Given the description of an element on the screen output the (x, y) to click on. 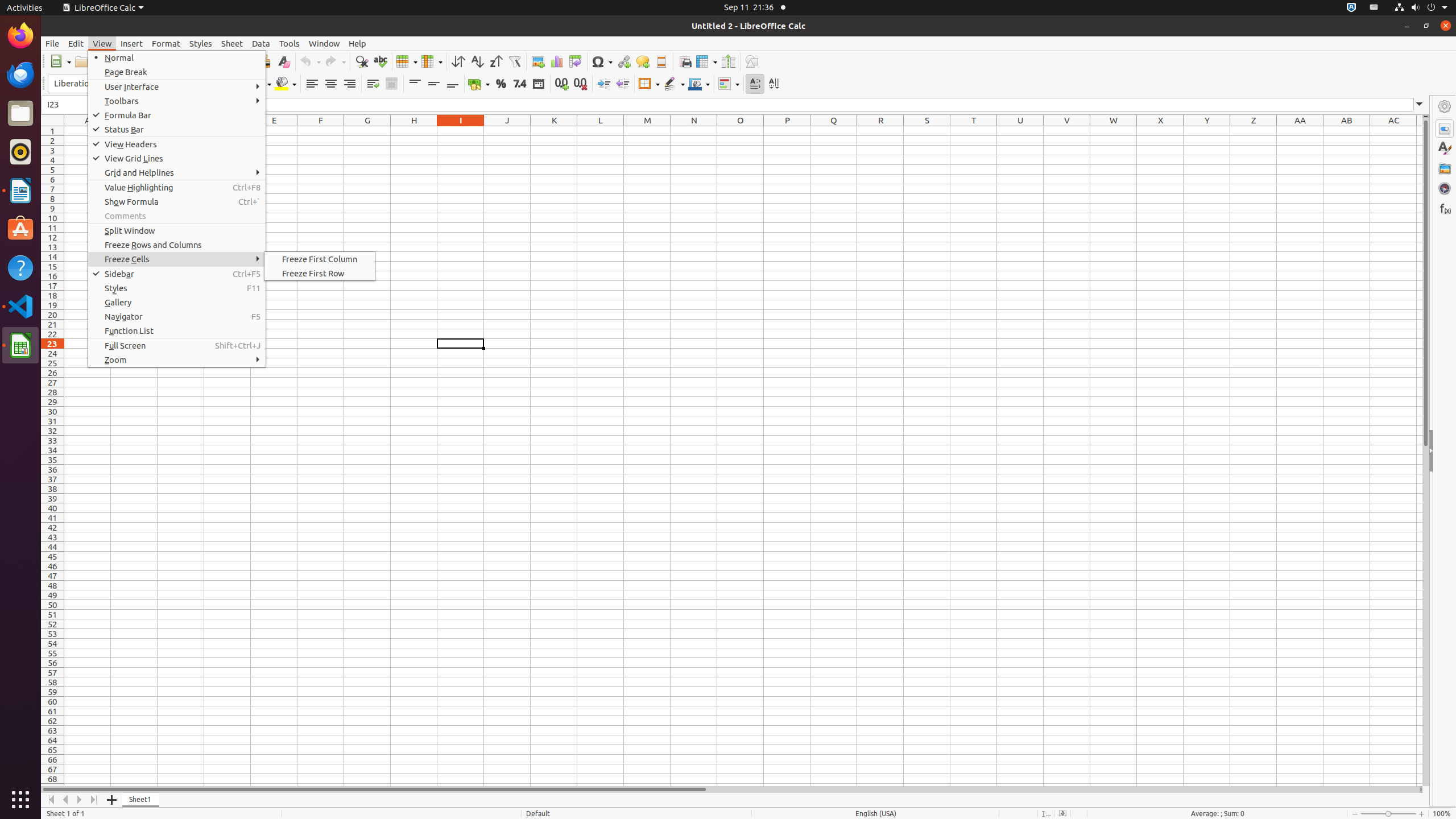
User Interface Element type: menu (176, 86)
E1 Element type: table-cell (273, 130)
Toolbars Element type: menu (176, 100)
Undo Element type: push-button (309, 61)
Freeze Rows and Columns Element type: push-button (705, 61)
